Given the description of an element on the screen output the (x, y) to click on. 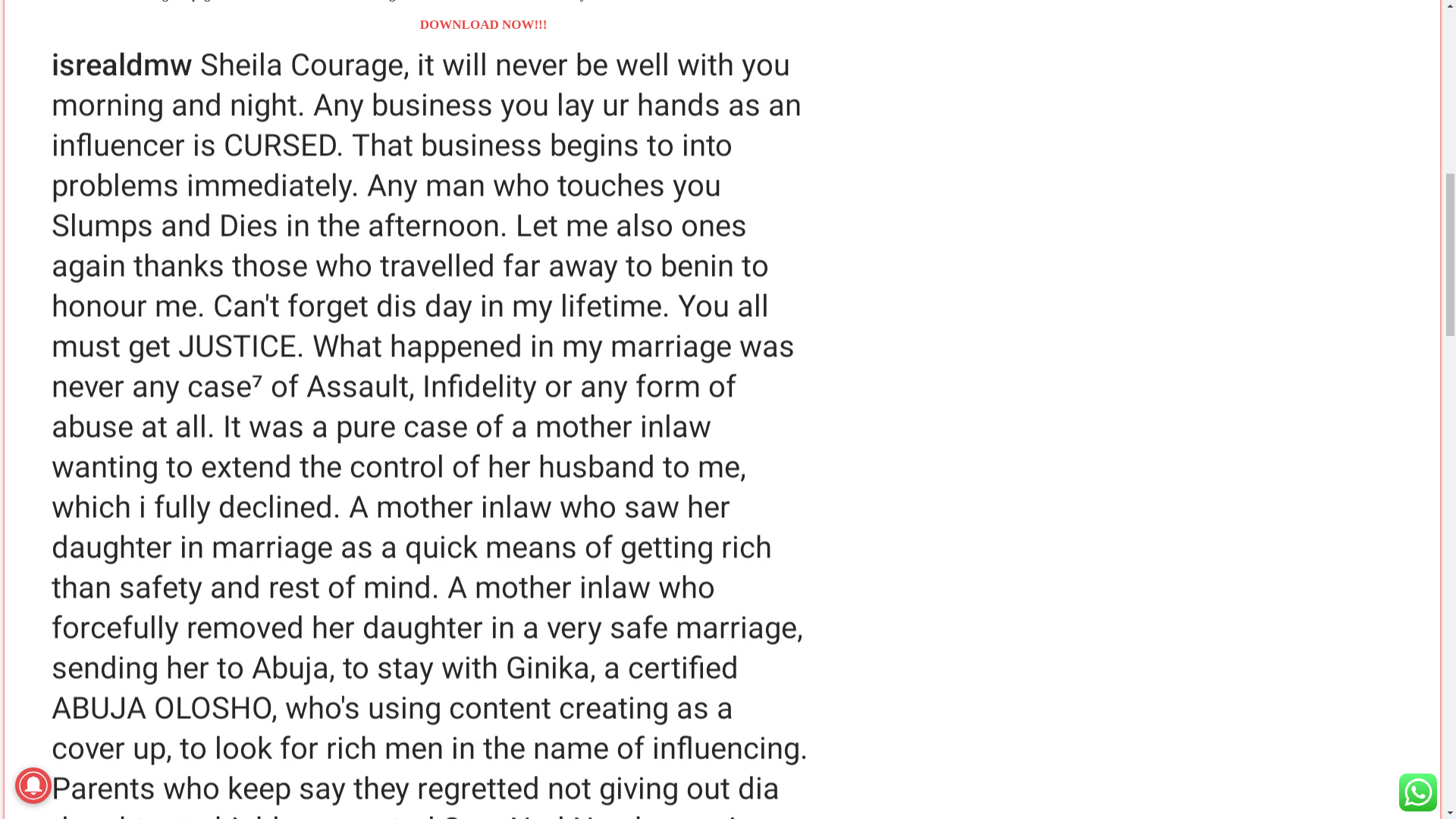
here (699, 0)
DOWNLOAD NOW!!! (483, 24)
